Given the description of an element on the screen output the (x, y) to click on. 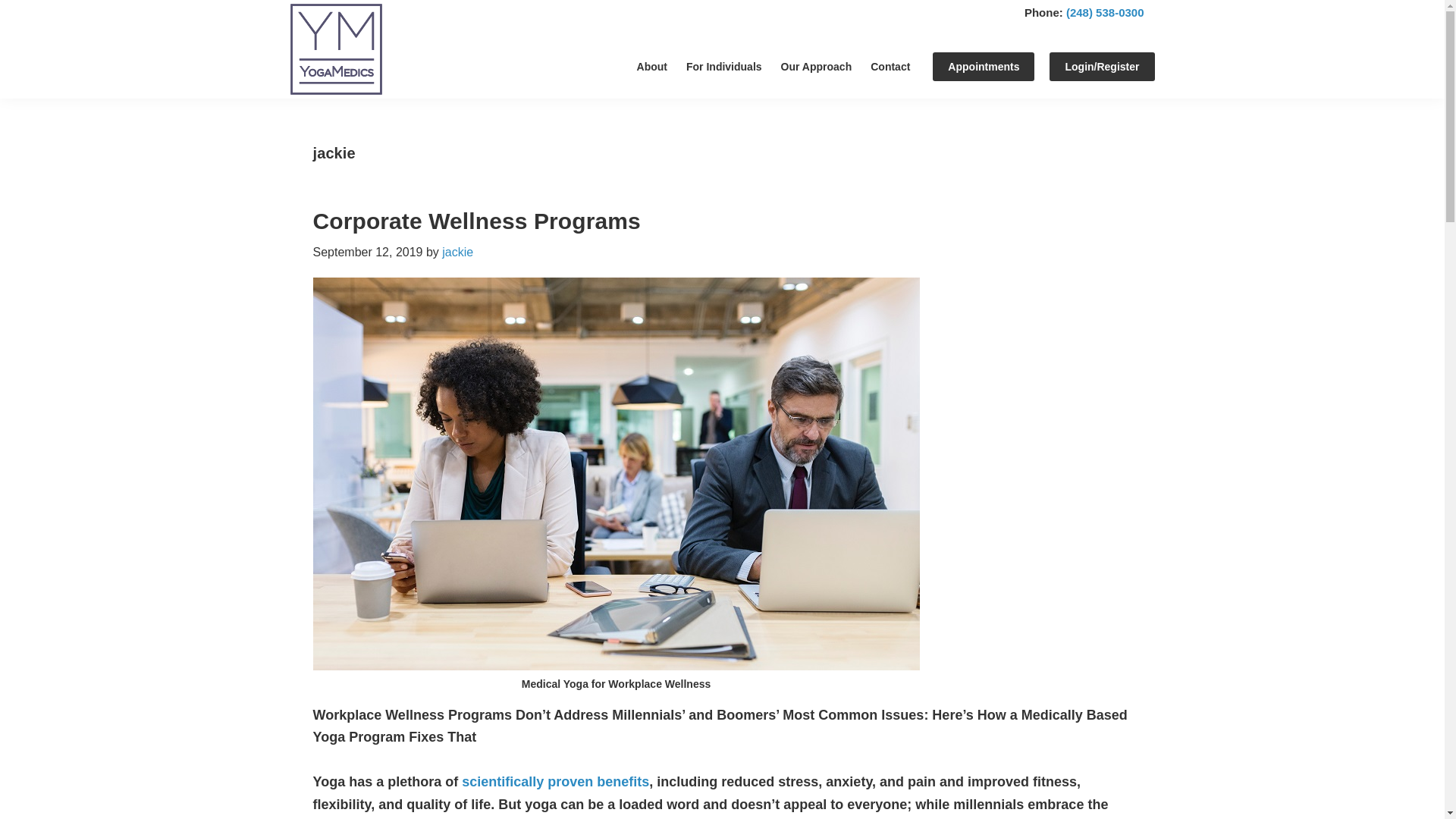
About (651, 66)
Contact (890, 66)
Corporate Wellness Programs (476, 220)
jackie (457, 251)
Our Approach (816, 66)
scientifically proven benefits (555, 781)
For Individuals (724, 66)
Appointments (983, 66)
